Given the description of an element on the screen output the (x, y) to click on. 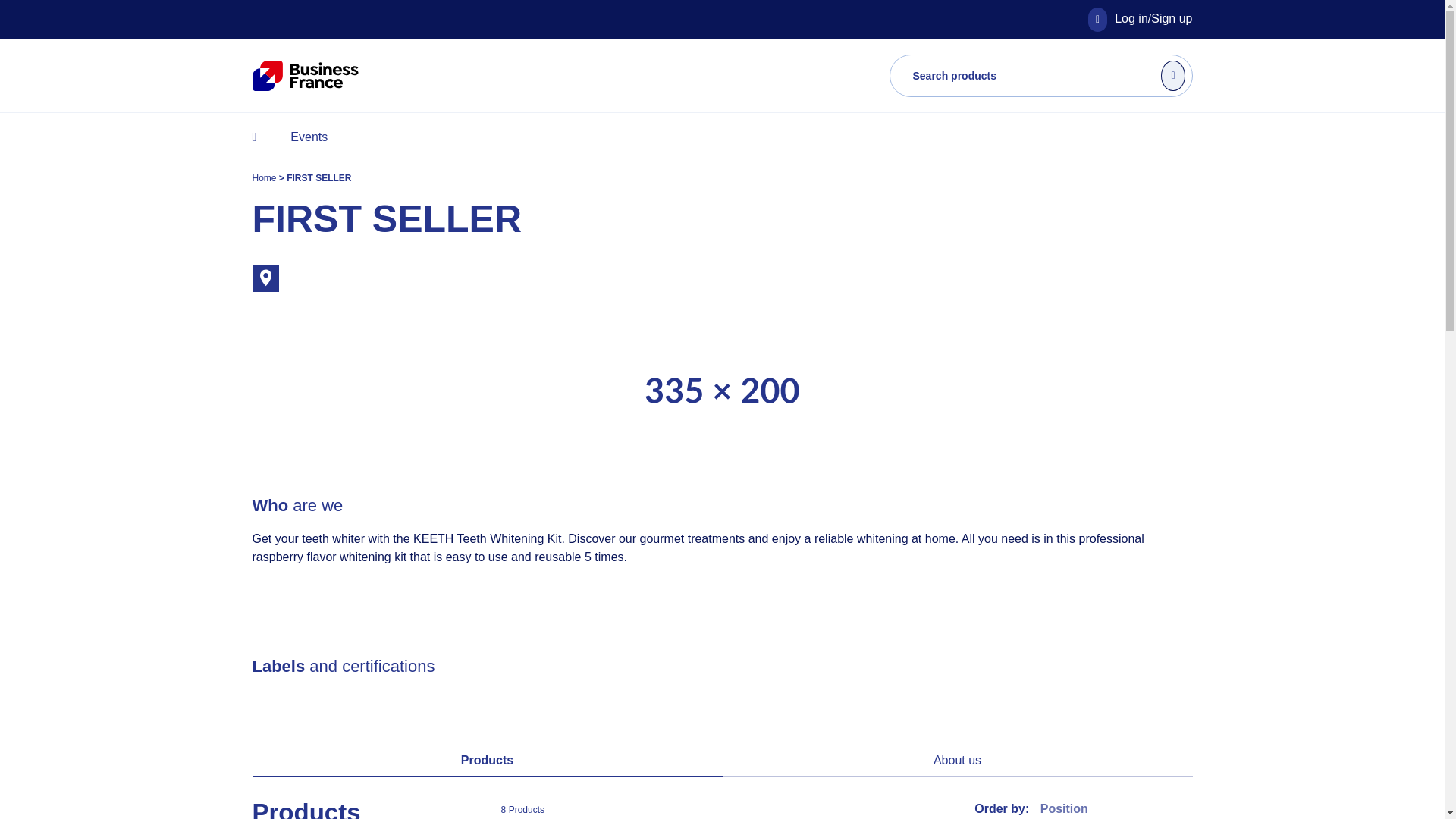
Home (264, 177)
Home (264, 177)
Events (308, 136)
Products (487, 759)
About us (957, 759)
